Given the description of an element on the screen output the (x, y) to click on. 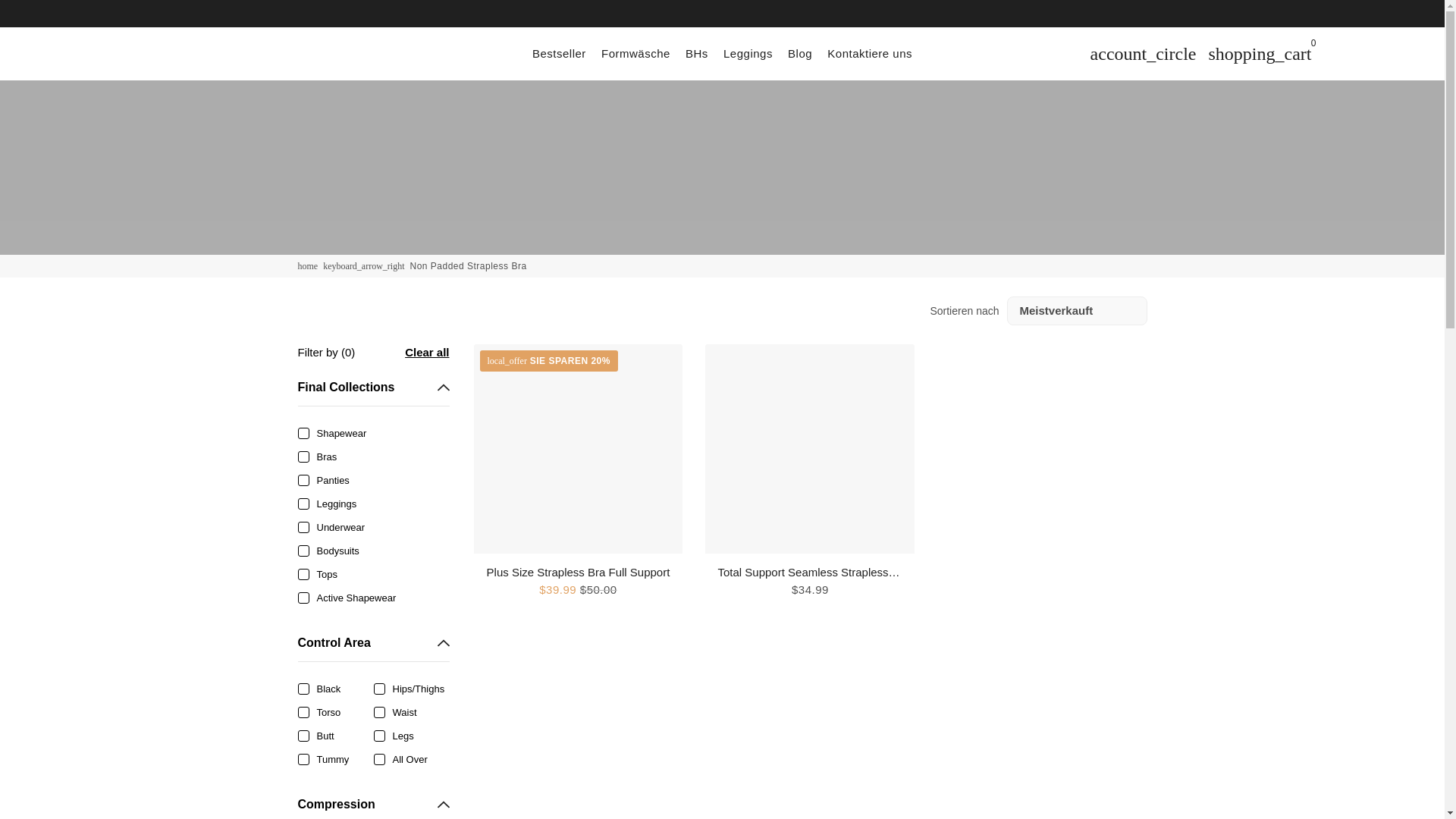
Body sculptor x (307, 266)
Einloggen (1143, 52)
Einkaufswagen (1259, 52)
